Given the description of an element on the screen output the (x, y) to click on. 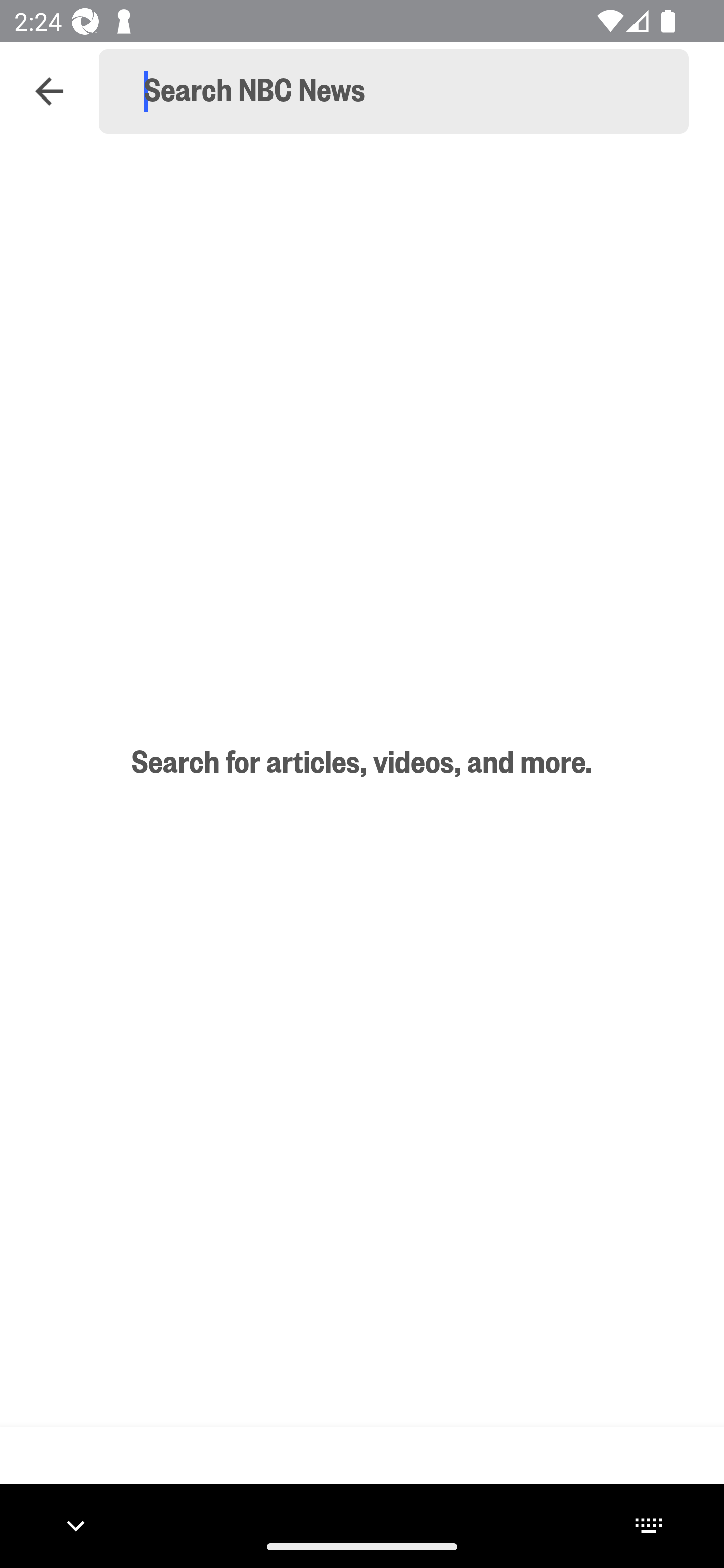
Navigate up (49, 91)
Search NBC News (402, 91)
